Given the description of an element on the screen output the (x, y) to click on. 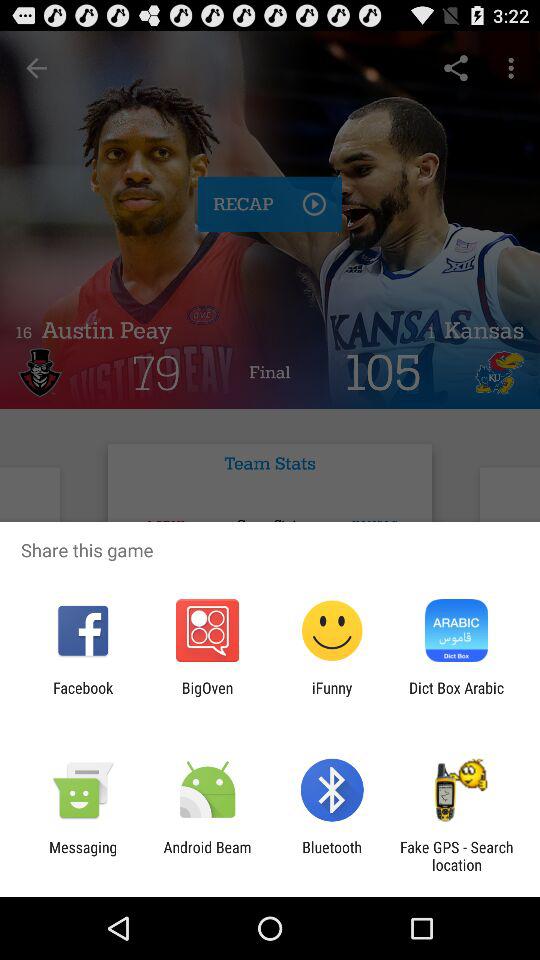
choose fake gps search app (456, 856)
